Given the description of an element on the screen output the (x, y) to click on. 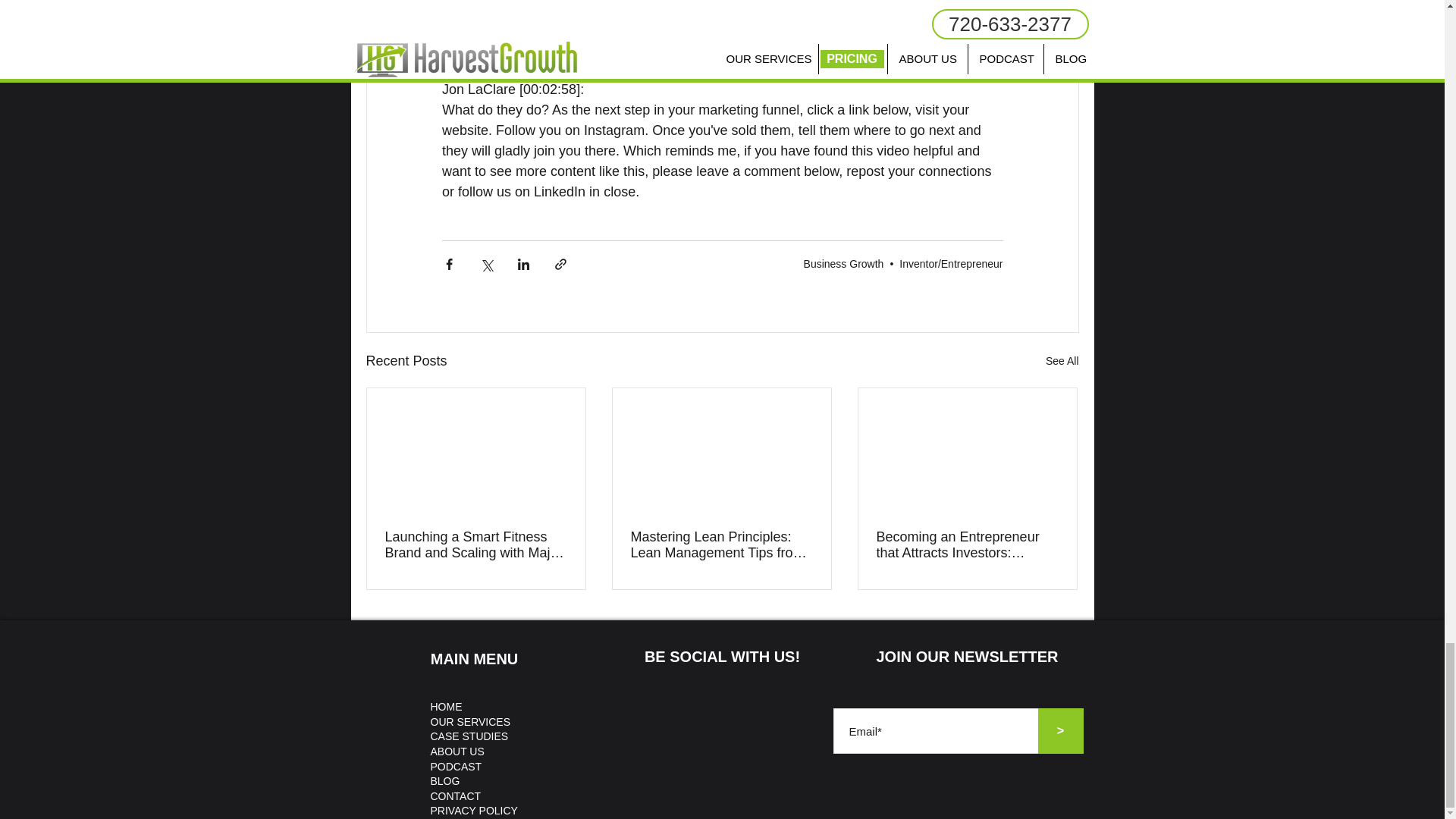
Business Growth (843, 263)
